Given the description of an element on the screen output the (x, y) to click on. 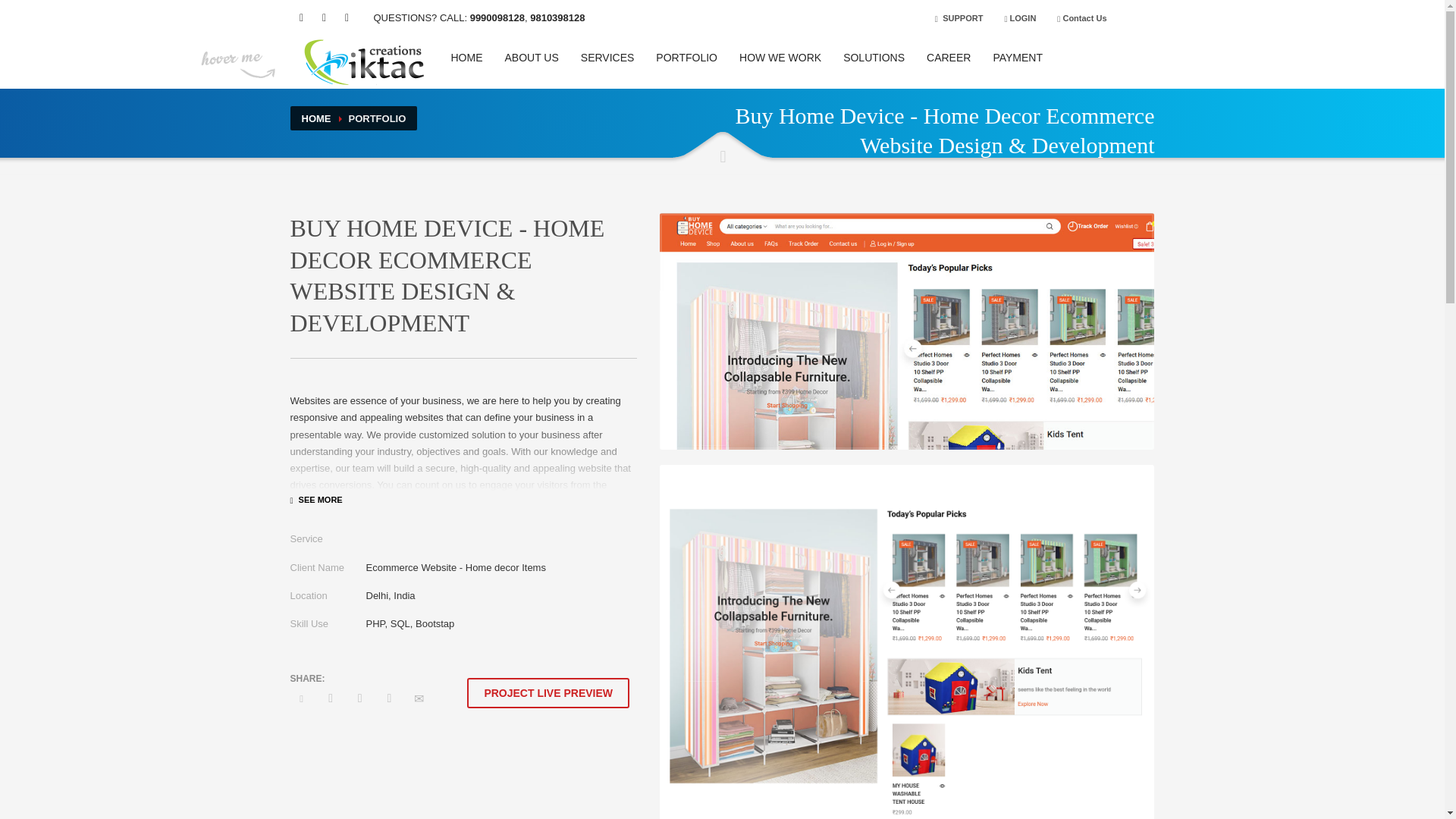
SUPPORT (958, 18)
Facebook (301, 17)
Progressively harness (906, 330)
9990098128 (497, 17)
9810398128 (557, 17)
Twitter (323, 17)
SOLUTIONS (874, 57)
Contact Us (1082, 18)
SHARE ON GPLUS (360, 698)
HOW WE WORK (779, 57)
PORTFOLIO (686, 57)
Logo (365, 62)
ABOUT US (531, 57)
SHARE ON PINTEREST (388, 698)
